Given the description of an element on the screen output the (x, y) to click on. 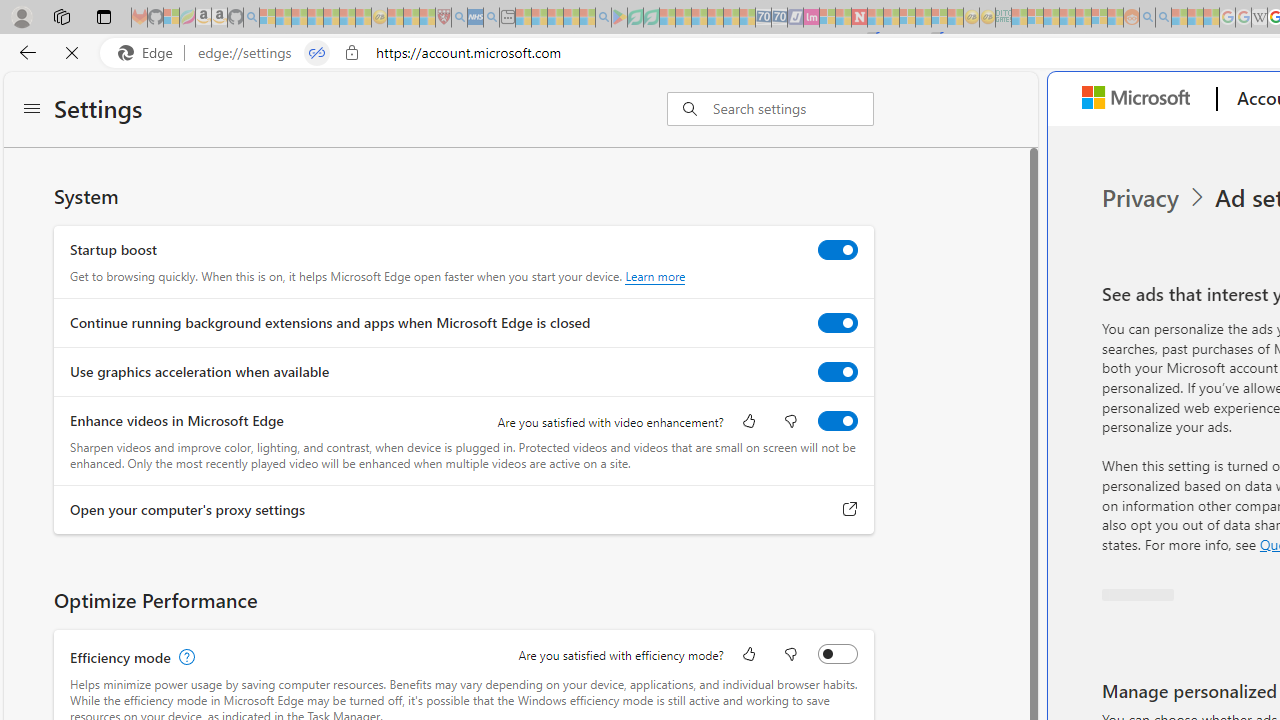
Terms of Use Agreement - Sleeping (635, 17)
Startup boost (837, 249)
Microsoft (1140, 99)
Efficiency mode, learn more (184, 657)
Like (748, 655)
Local - MSN - Sleeping (427, 17)
